Given the description of an element on the screen output the (x, y) to click on. 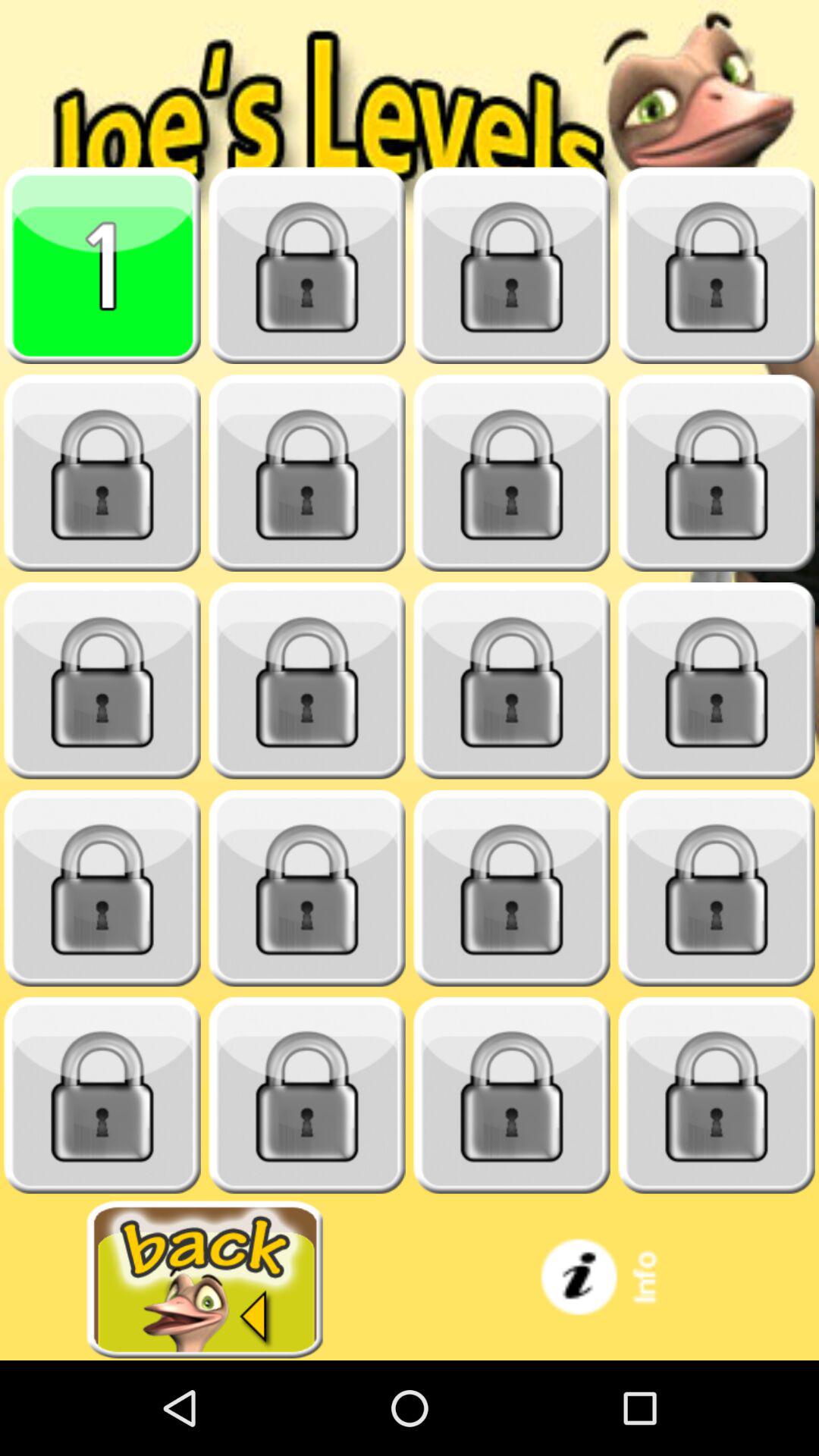
locked (306, 265)
